Given the description of an element on the screen output the (x, y) to click on. 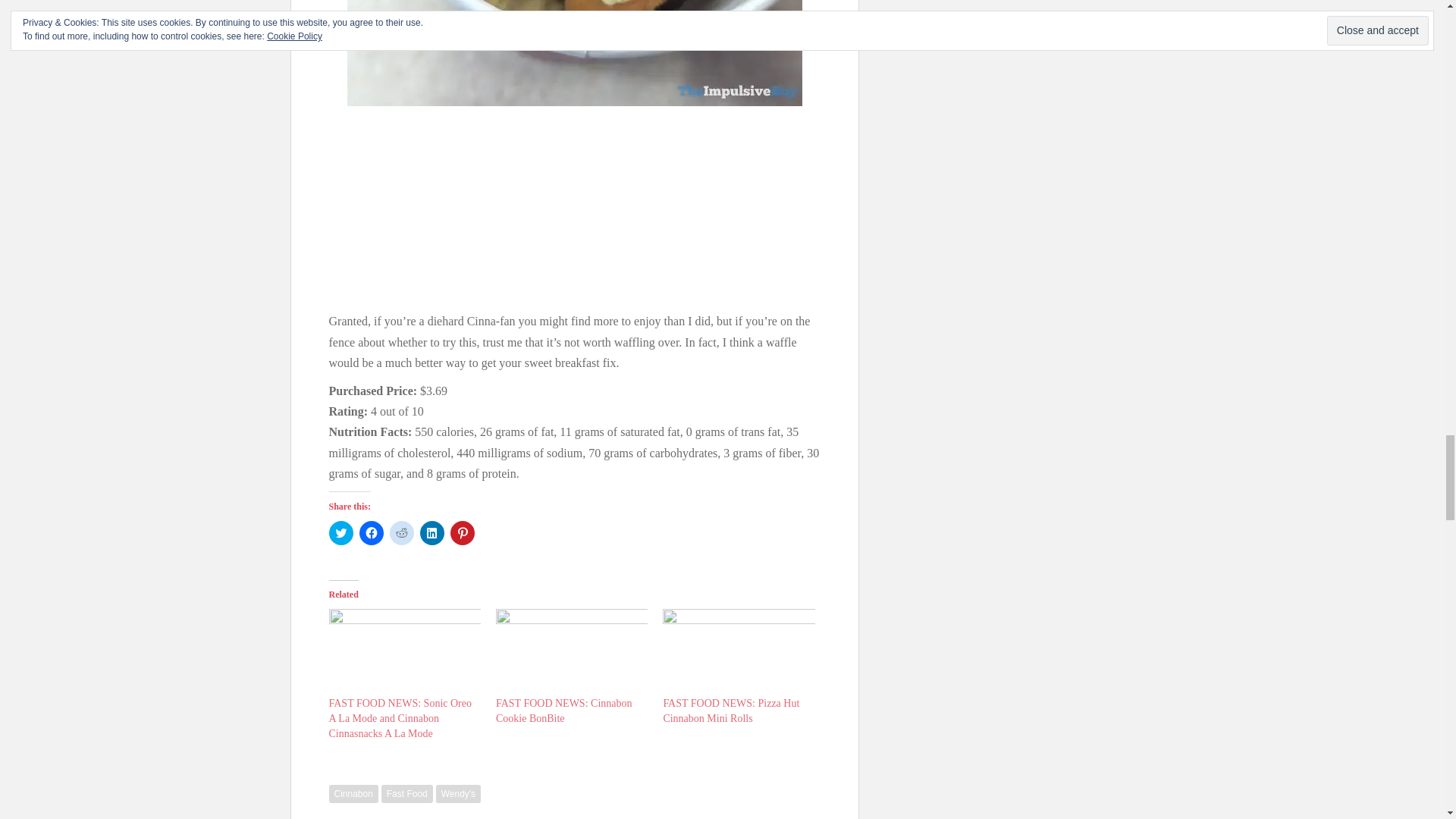
Click to share on Twitter (341, 532)
Click to share on LinkedIn (432, 532)
FAST FOOD NEWS: Pizza Hut Cinnabon Mini Rolls (730, 710)
Click to share on Facebook (371, 532)
Click to share on Reddit (401, 532)
FAST FOOD NEWS: Pizza Hut Cinnabon Mini Rolls (730, 710)
FAST FOOD NEWS: Cinnabon Cookie BonBite (563, 710)
